Given the description of an element on the screen output the (x, y) to click on. 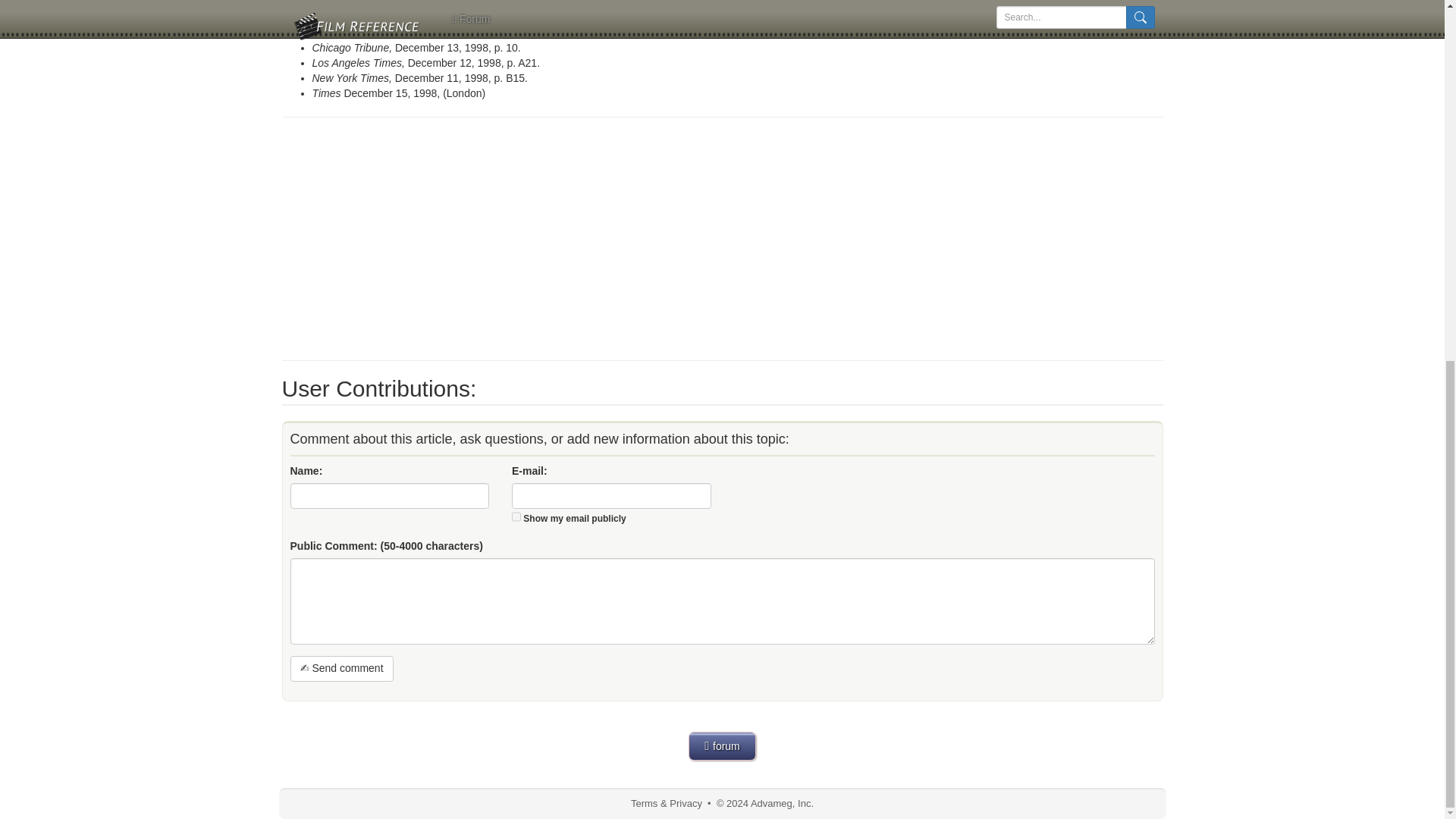
forum (721, 746)
1 (516, 516)
